Given the description of an element on the screen output the (x, y) to click on. 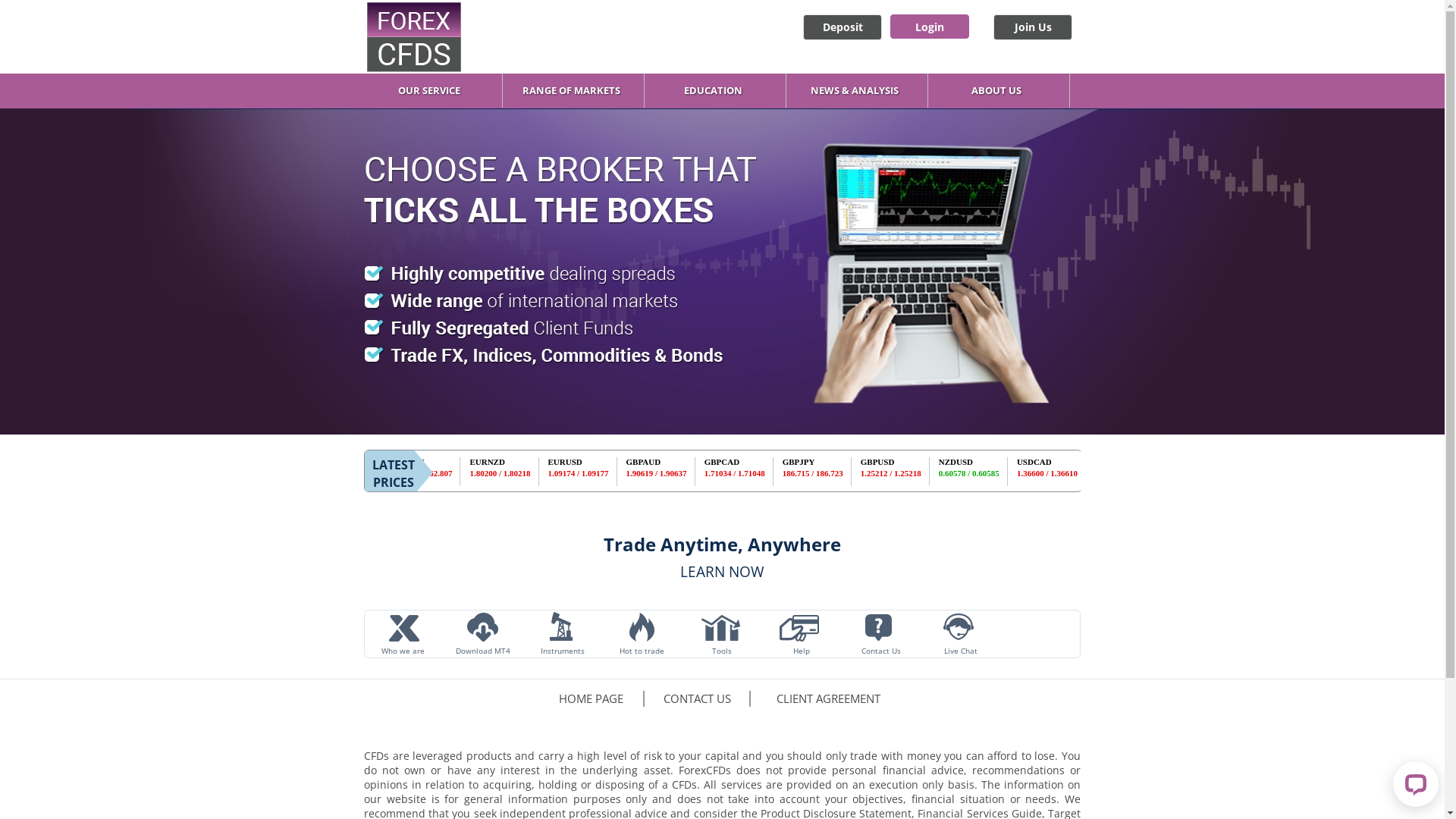
EURUSD
1.09174 / 1.09177 Element type: text (604, 468)
CONTACT US Element type: text (697, 698)
EURGBP
0.87190 / 0.87195 Element type: text (370, 468)
RANGE OF MARKETS Element type: text (574, 90)
GBPCAD
1.71034 / 1.71048 Element type: text (759, 468)
Join Us Element type: text (1032, 27)
NZDUSD
0.60578 / 0.60585 Element type: text (992, 468)
EURJPY
162.799 / 162.807 Element type: text (448, 468)
NEWS & ANALYSIS Element type: text (858, 90)
Contact Us Element type: text (880, 635)
HOME PAGE Element type: text (591, 698)
Help Element type: text (800, 635)
Download MT4 Element type: text (482, 635)
USDCAD
1.36600 / 1.36610 Element type: text (1069, 468)
EURNZD
1.80200 / 1.80218 Element type: text (526, 468)
Who we are Element type: text (402, 635)
Tools Element type: text (721, 635)
GBPAUD
1.90619 / 1.90637 Element type: text (682, 468)
CLIENT AGREEMENT Element type: text (828, 698)
GBPJPY
186.715 / 186.723 Element type: text (837, 468)
Hot to trade Element type: text (641, 635)
Live Chat Element type: text (960, 635)
Login Element type: text (929, 26)
GBPUSD
1.25212 / 1.25218 Element type: text (915, 468)
EDUCATION Element type: text (716, 90)
ABOUT US Element type: text (1000, 90)
Deposit Element type: text (842, 27)
Instruments Element type: text (562, 635)
OUR SERVICE Element type: text (432, 90)
